Given the description of an element on the screen output the (x, y) to click on. 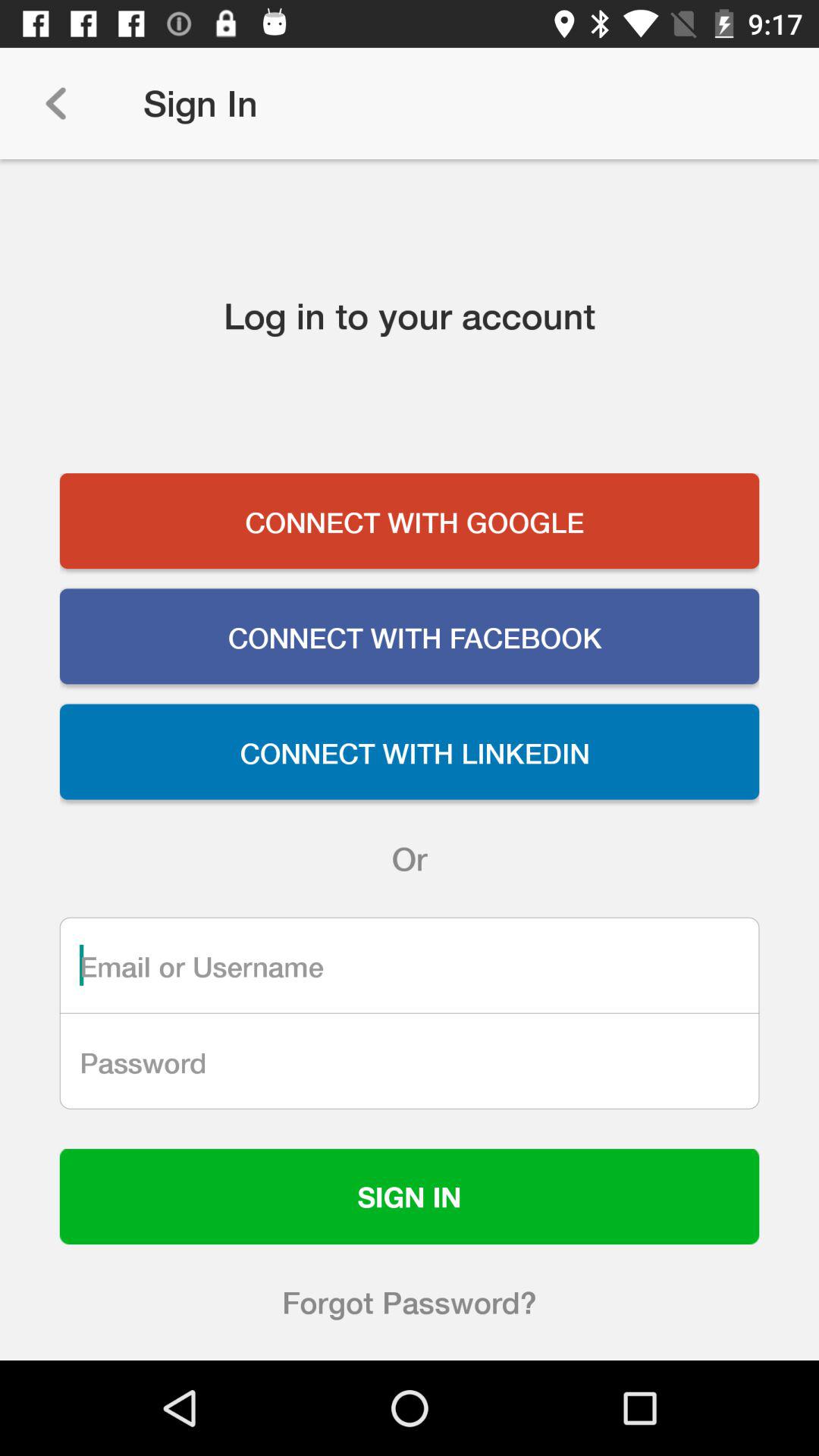
choose icon above the log in to (55, 103)
